Given the description of an element on the screen output the (x, y) to click on. 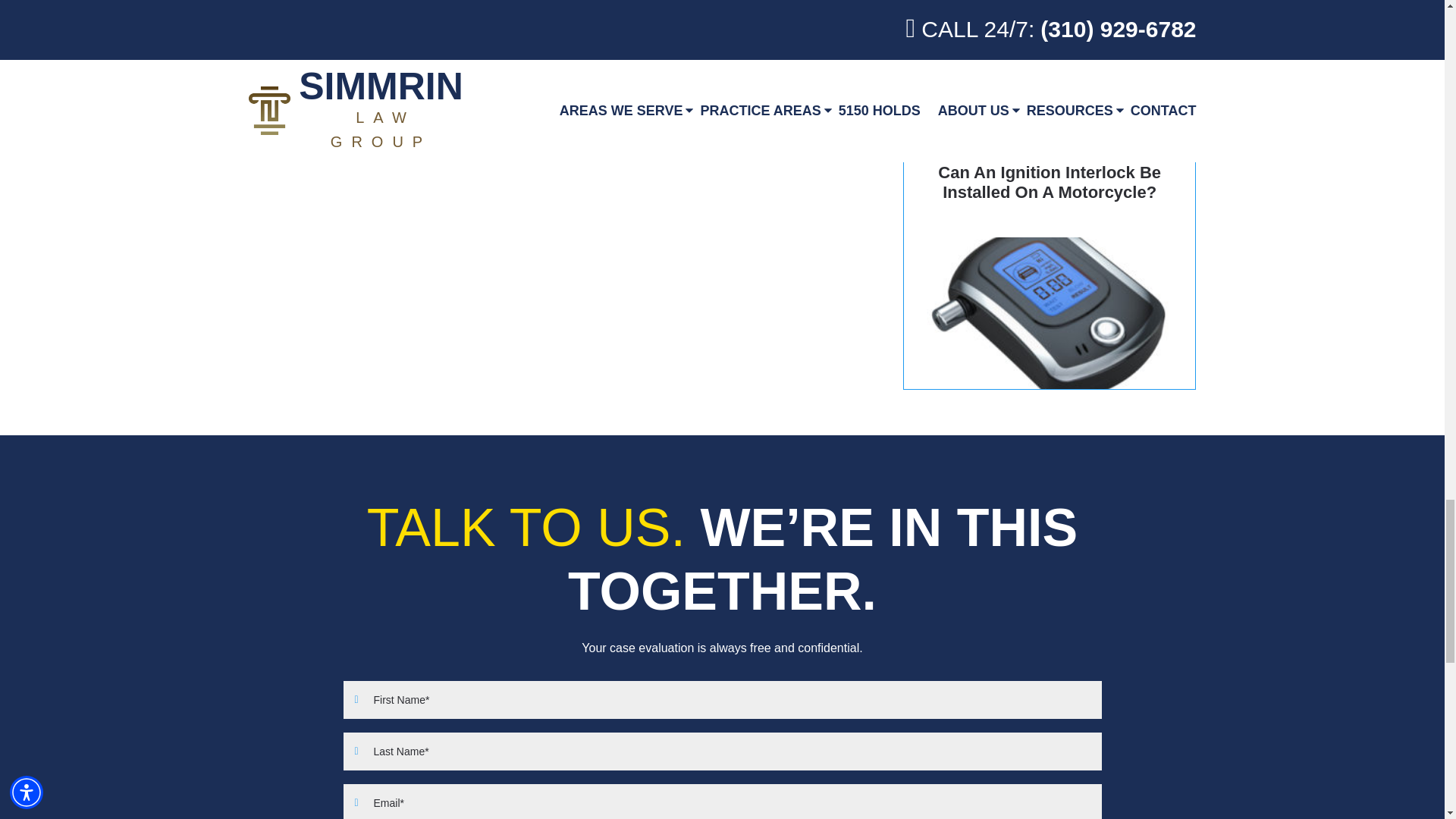
Can An Ignition Interlock Be Installed On A Motorcycle? (1049, 258)
